Given the description of an element on the screen output the (x, y) to click on. 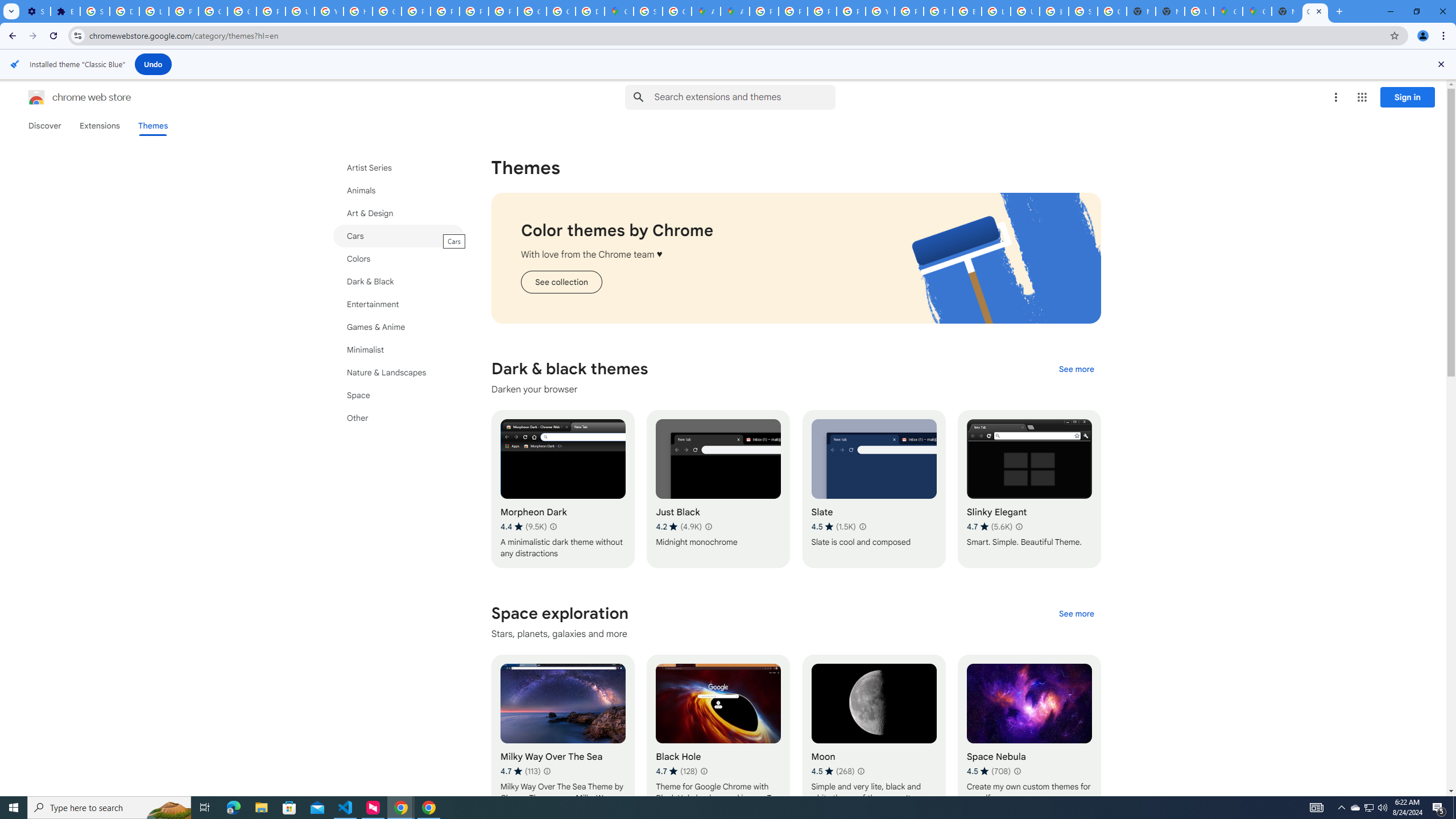
Nature & Landscapes (398, 372)
Moon (873, 733)
Artist Series (398, 167)
Slinky Elegant (1028, 489)
Learn more about results and reviews "Slinky Elegant" (1018, 526)
Privacy Help Center - Policies Help (821, 11)
Sign in - Google Accounts (95, 11)
Use Google Maps in Space - Google Maps Help (1198, 11)
Sign in - Google Accounts (648, 11)
